Given the description of an element on the screen output the (x, y) to click on. 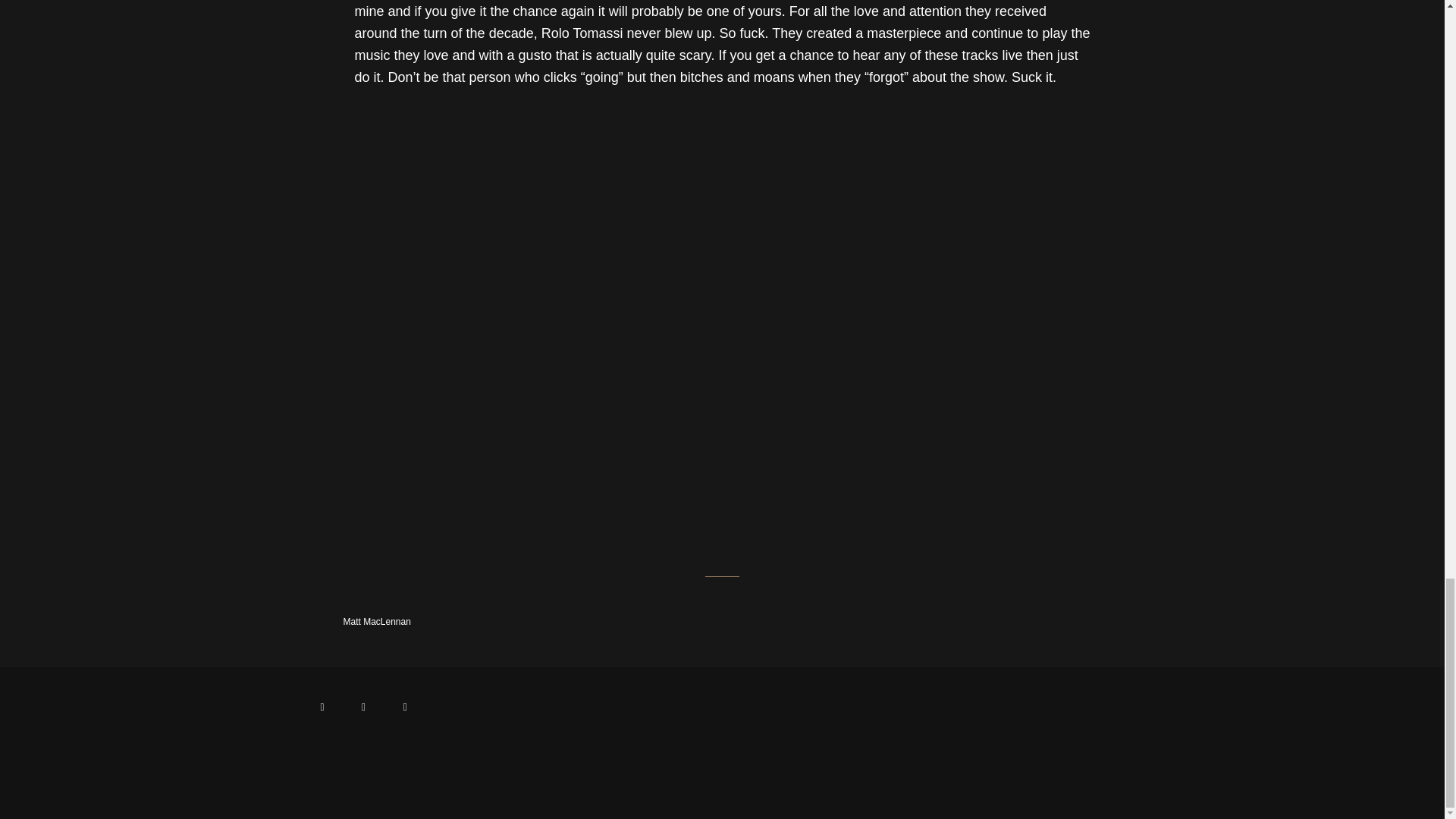
Matt MacLennan (353, 621)
